Given the description of an element on the screen output the (x, y) to click on. 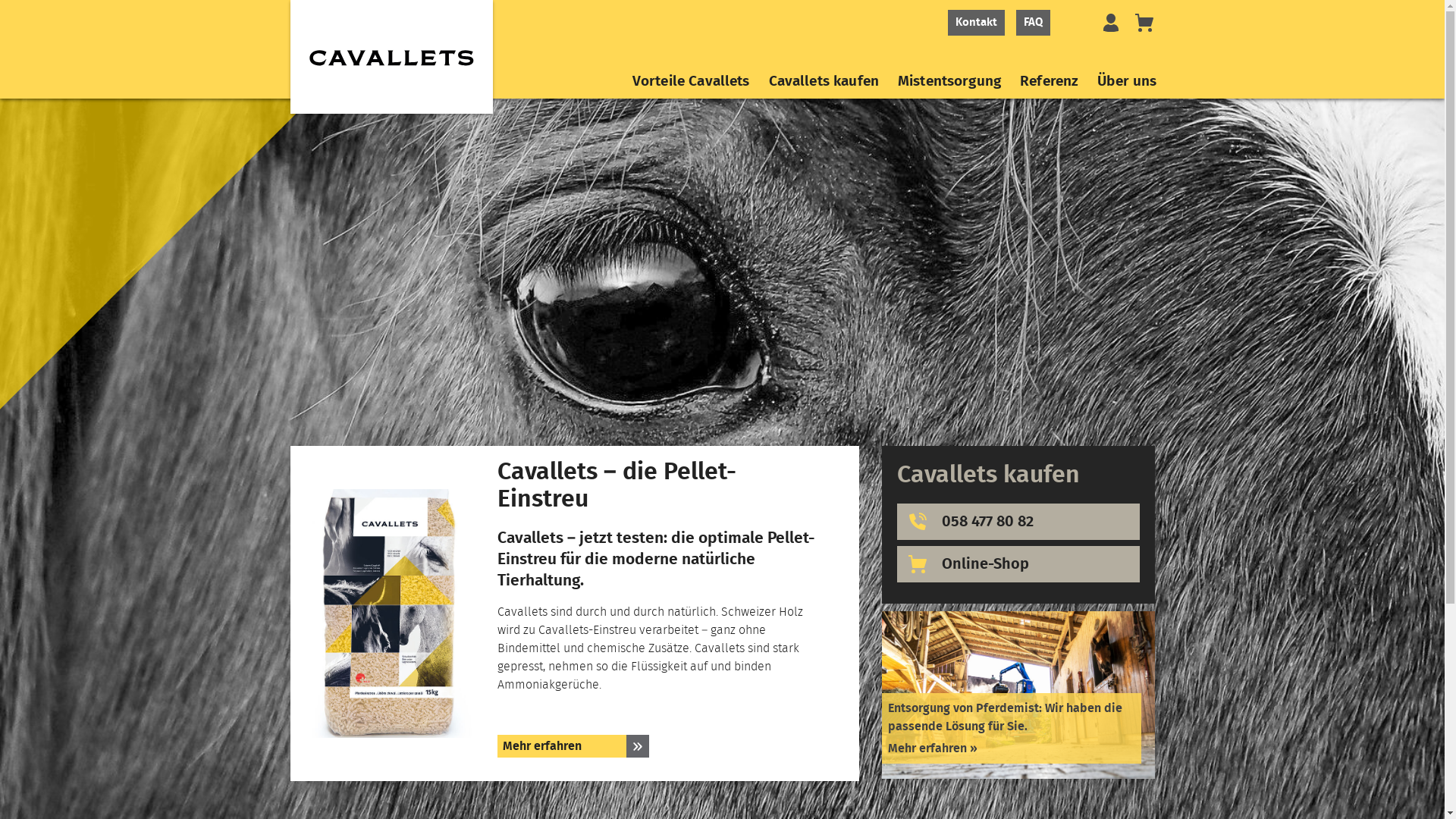
Cavallets kaufen Element type: text (823, 82)
Kontakt Element type: text (975, 22)
Mehr erfahren Element type: text (573, 746)
Vorteile Cavallets Element type: text (690, 82)
Online-Shop Element type: text (1017, 564)
Referenz Element type: text (1048, 82)
058 477 80 82 Element type: text (1017, 521)
FAQ Element type: text (1033, 22)
Mistentsorgung Element type: text (949, 82)
